Given the description of an element on the screen output the (x, y) to click on. 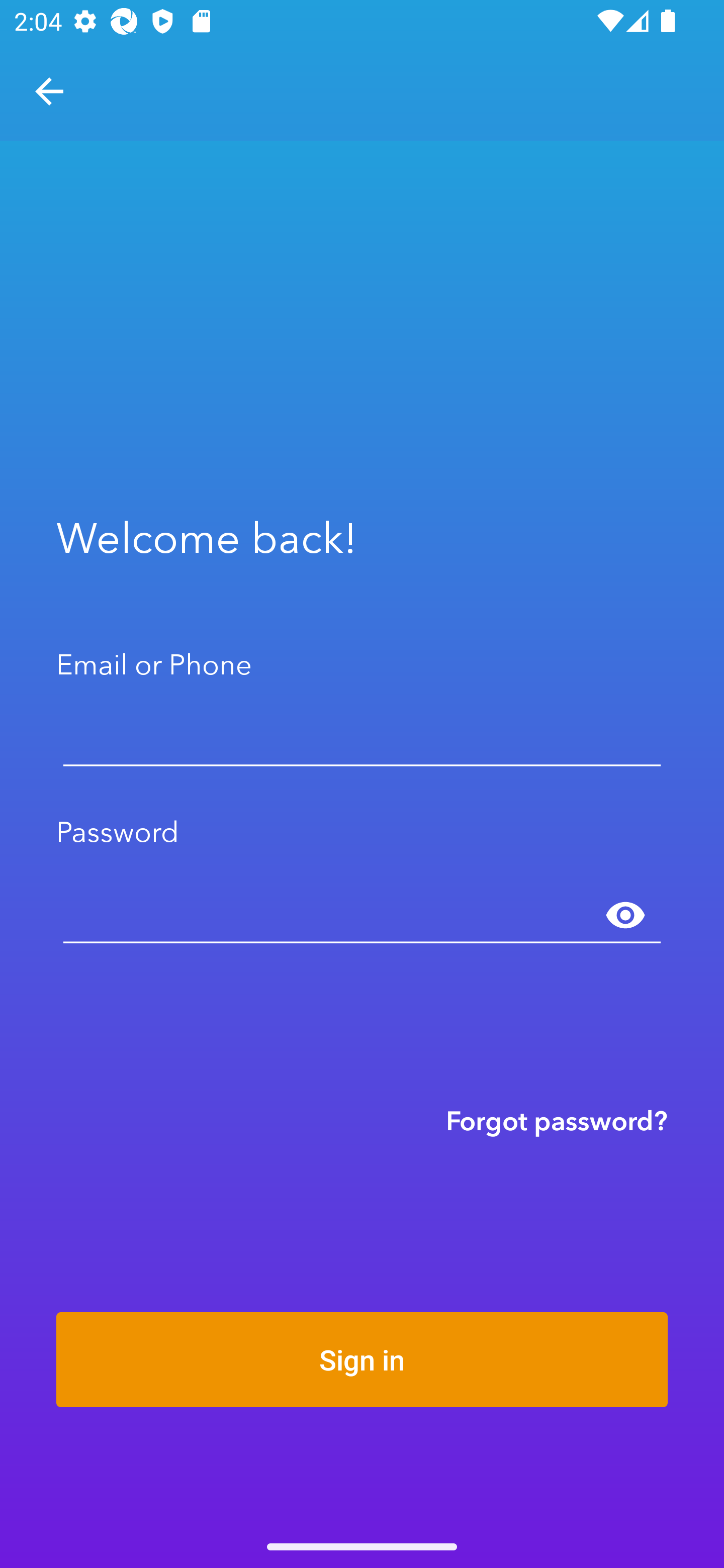
Navigate up (49, 91)
Show password (625, 915)
Forgot password? (556, 1119)
Sign in (361, 1359)
